Given the description of an element on the screen output the (x, y) to click on. 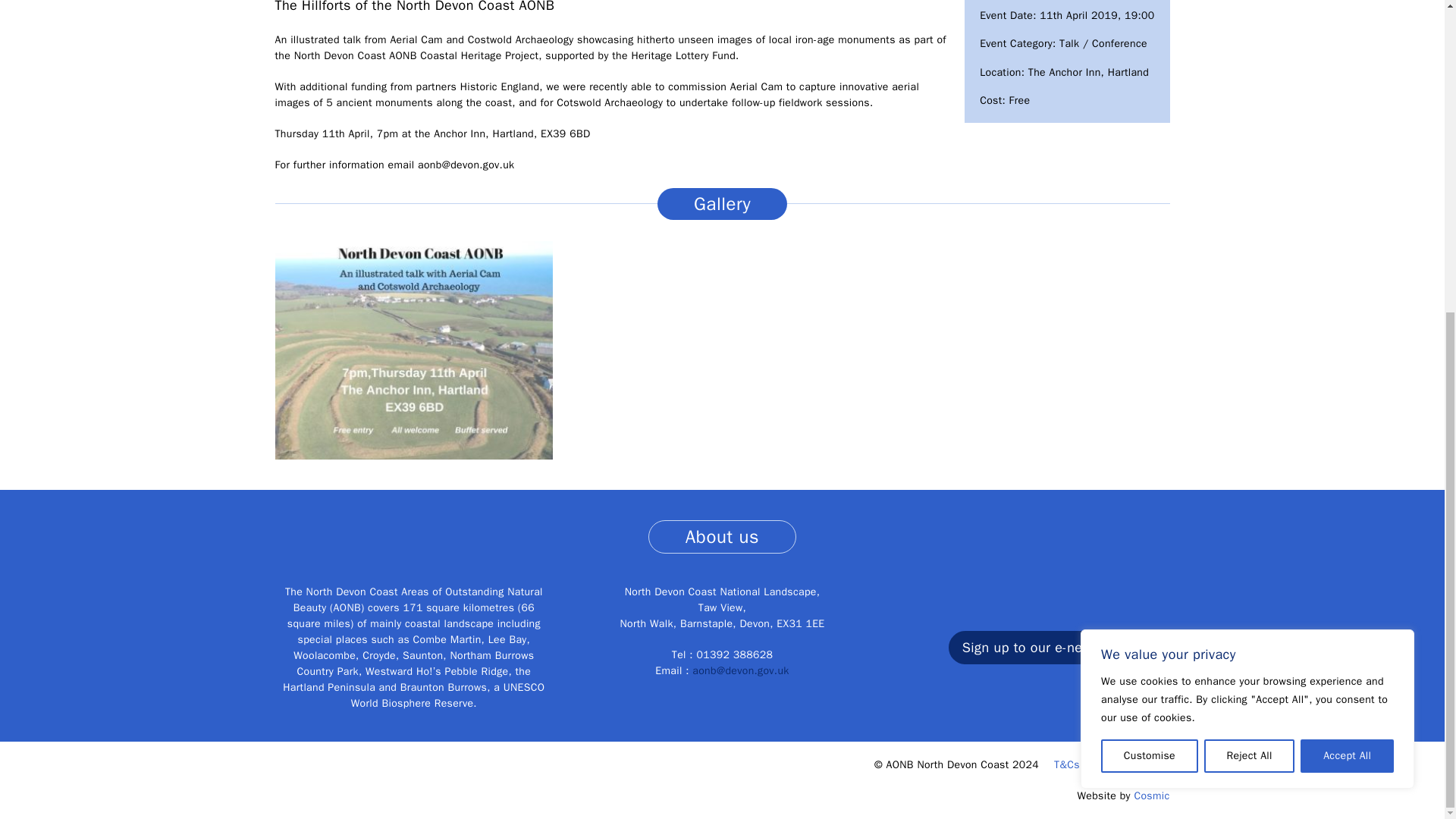
Accept All (1346, 257)
Reject All (1249, 257)
Customise (1149, 257)
